Given the description of an element on the screen output the (x, y) to click on. 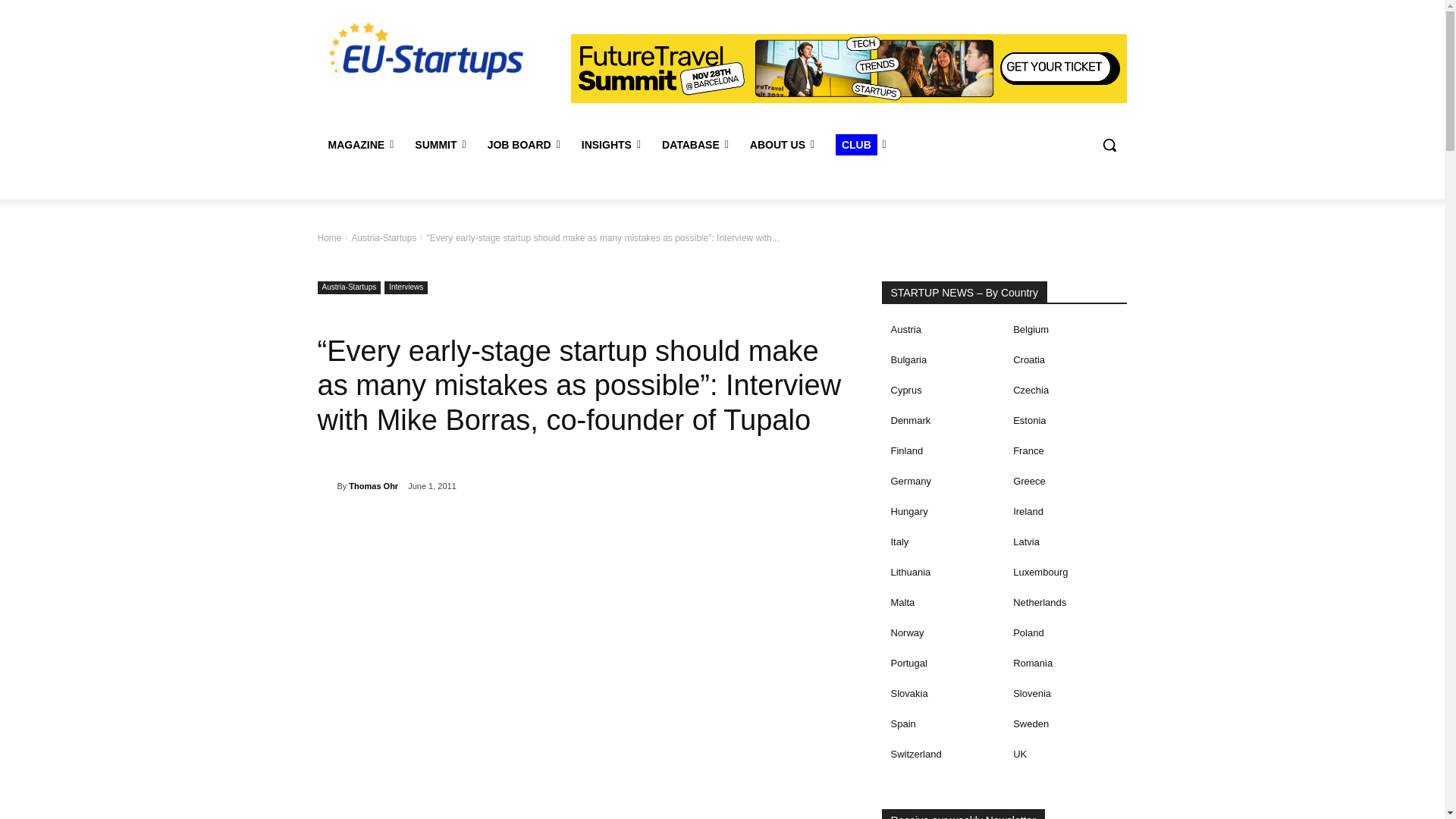
MAGAZINE (360, 144)
View all posts in Austria-Startups (383, 237)
Thomas Ohr (326, 485)
